Given the description of an element on the screen output the (x, y) to click on. 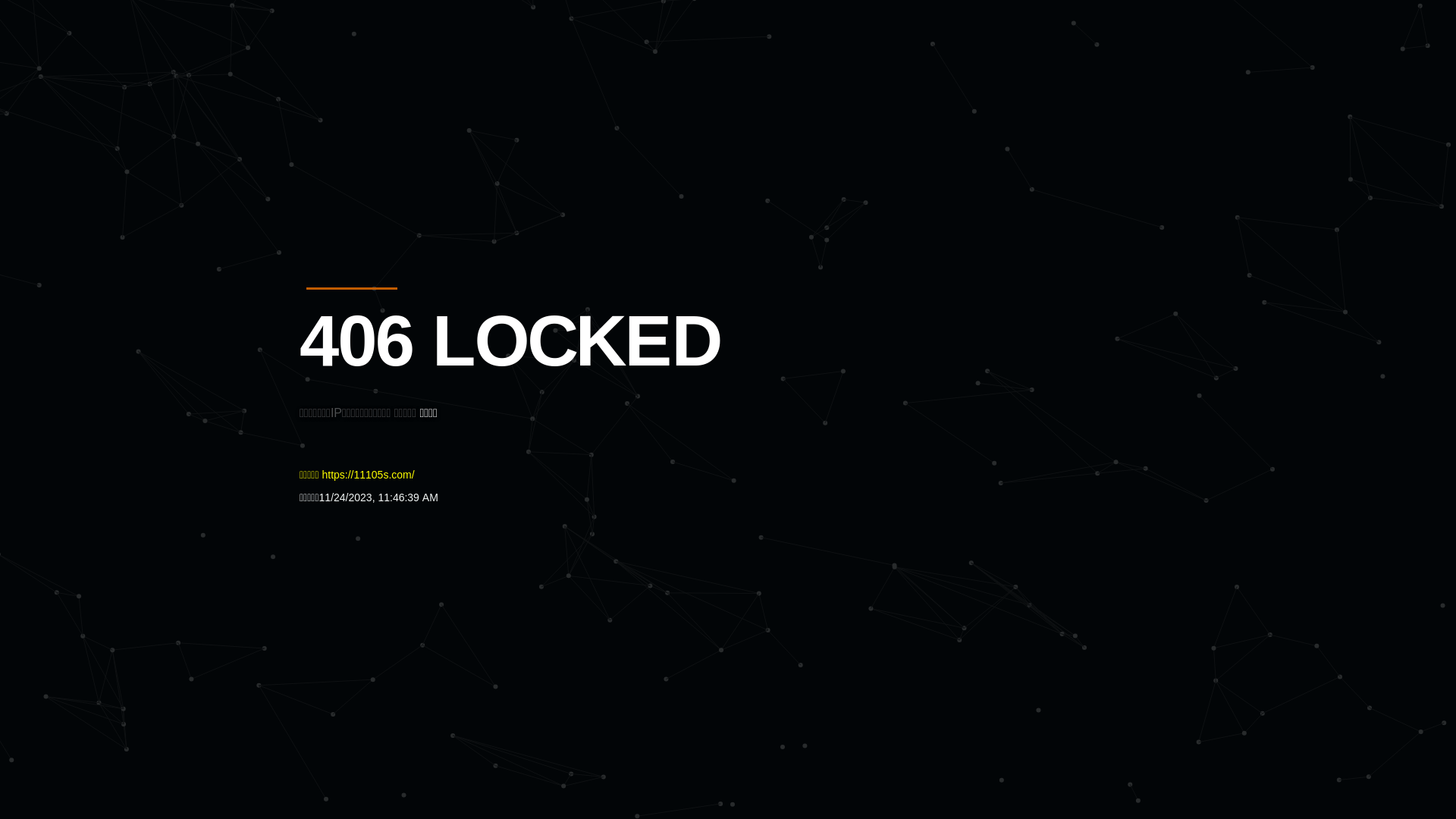
Quatro Element type: text (410, 86)
